Given the description of an element on the screen output the (x, y) to click on. 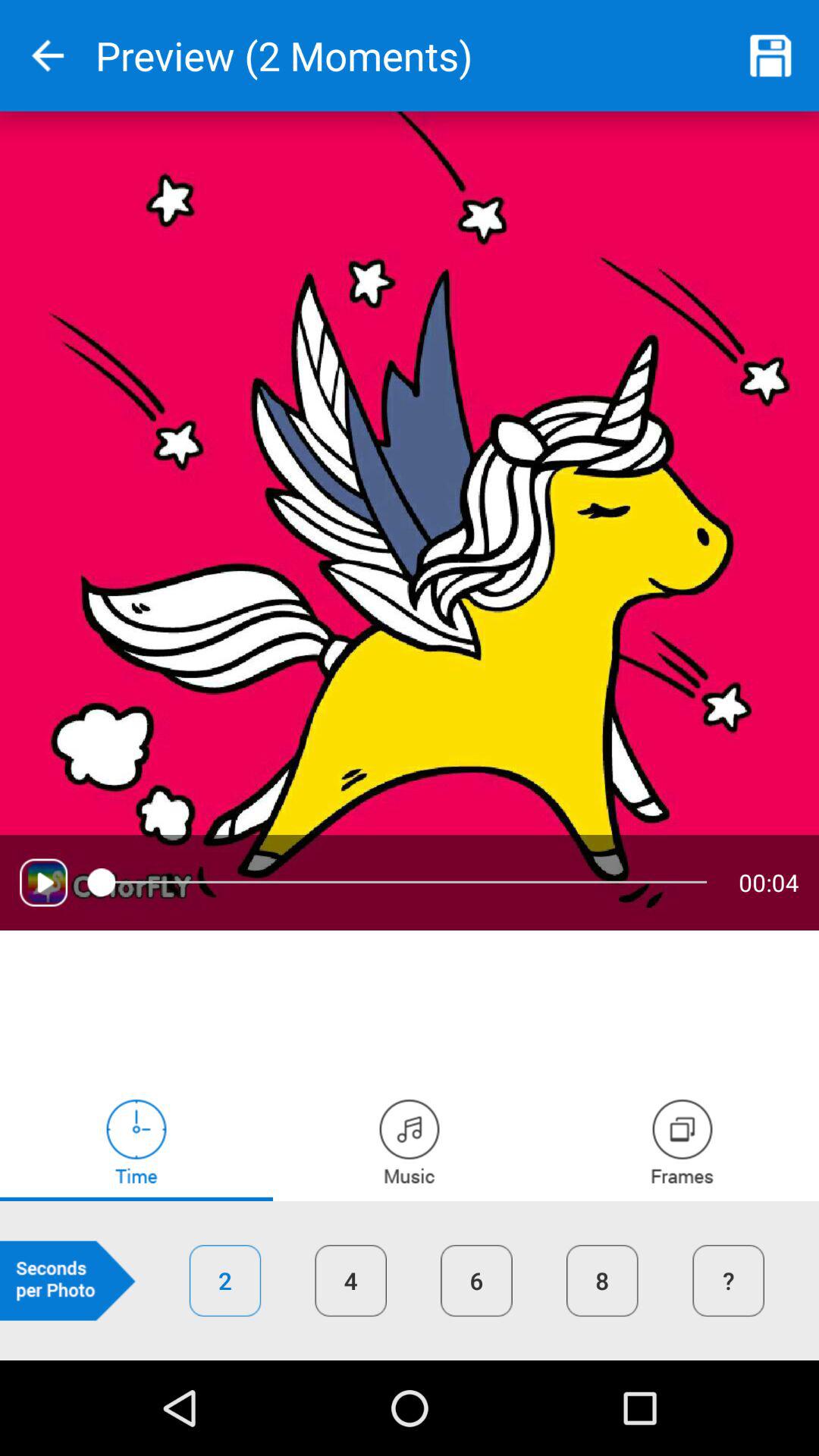
to go previous page (47, 55)
